Given the description of an element on the screen output the (x, y) to click on. 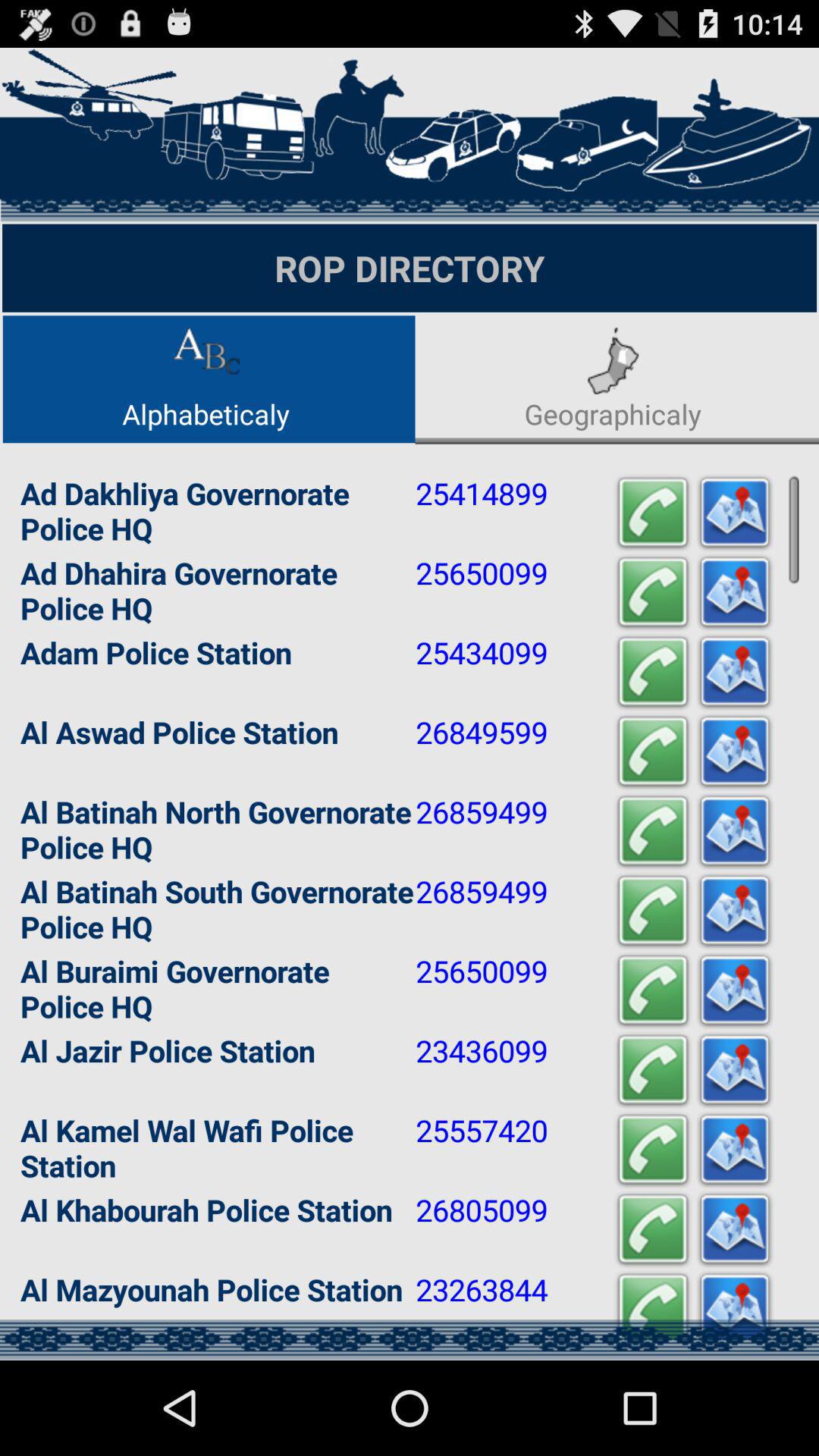
share the article (734, 990)
